Given the description of an element on the screen output the (x, y) to click on. 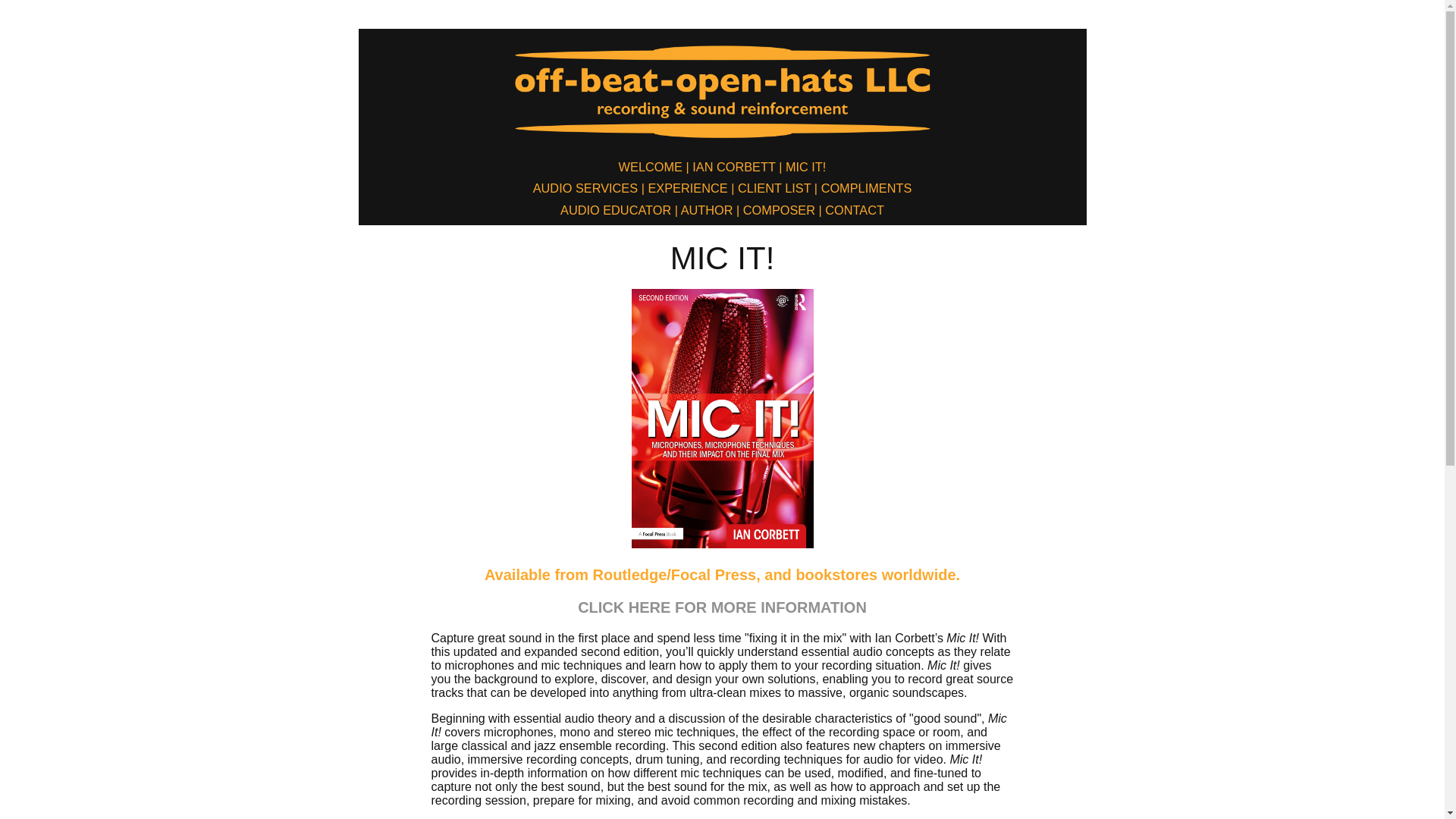
AUDIO SERVICES Element type: text (585, 187)
CLIENT LIST Element type: text (773, 187)
MIC IT! Element type: text (805, 166)
IAN CORBETT Element type: text (733, 166)
CLICK HERE FOR MORE INFORMATION Element type: text (721, 607)
AUDIO EDUCATOR Element type: text (615, 209)
COMPOSER Element type: text (779, 209)
WELCOME Element type: text (650, 166)
CONTACT Element type: text (854, 209)
AUTHOR Element type: text (706, 209)
COMPLIMENTS Element type: text (866, 187)
EXPERIENCE Element type: text (686, 187)
